Given the description of an element on the screen output the (x, y) to click on. 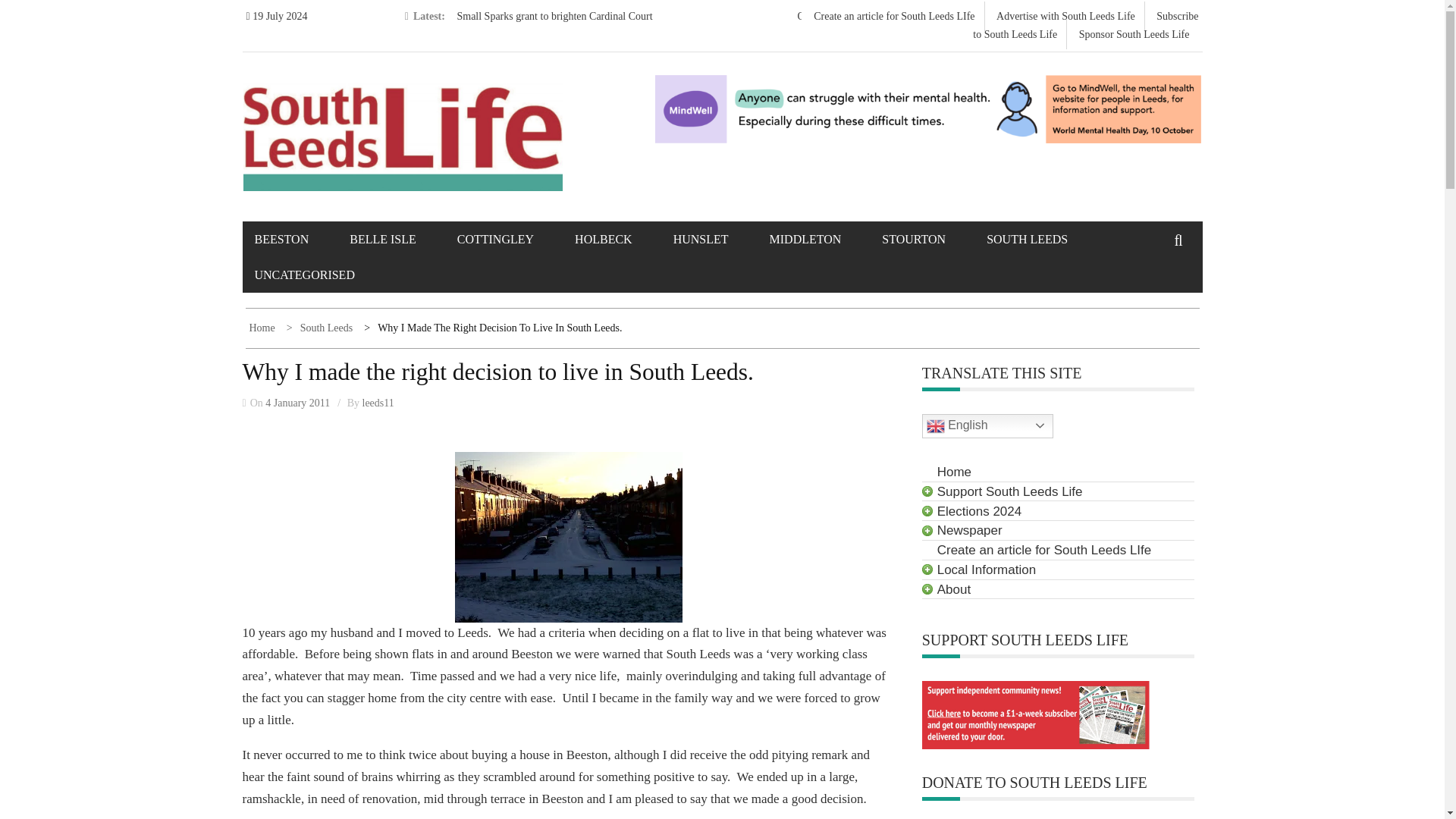
Home (263, 327)
UNCATEGORISED (323, 274)
IMG00006-20101127-1520 (568, 537)
BEESTON (300, 239)
4 January 2011 (297, 402)
Subscribe to South Leeds Life (1085, 25)
HOLBECK (622, 239)
Create an article for South Leeds LIfe (893, 16)
BELLE ISLE (401, 239)
STOURTON (933, 239)
SOUTH LEEDS (1046, 239)
SOUTH LEEDS LIFE (360, 121)
Sponsor South Leeds Life (1133, 34)
South Leeds (321, 327)
COTTINGLEY (514, 239)
